Given the description of an element on the screen output the (x, y) to click on. 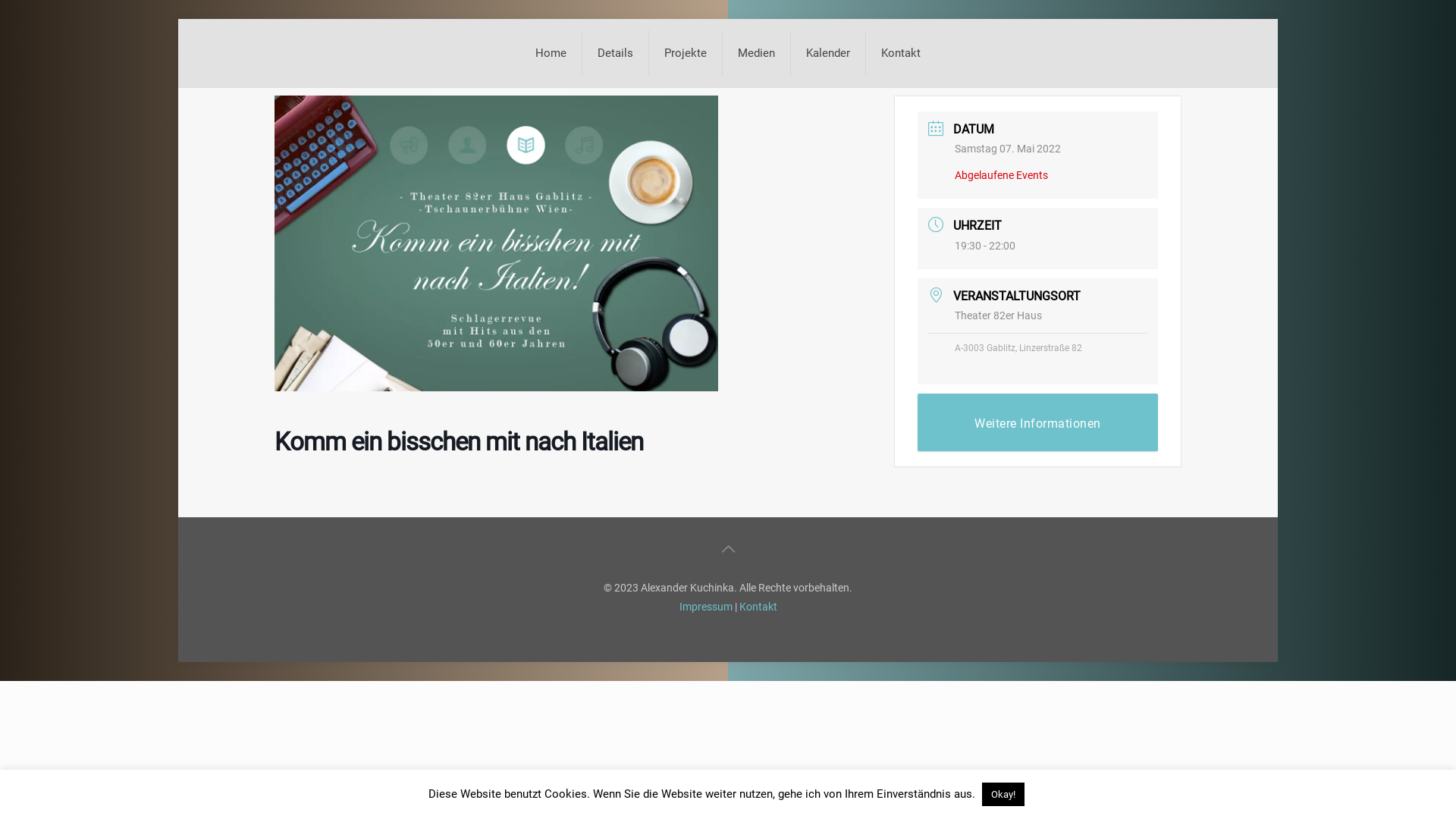
Medien Element type: text (756, 52)
Weitere Informationen Element type: text (1037, 422)
Okay! Element type: text (1002, 794)
Home Element type: text (551, 52)
Details Element type: text (615, 52)
Kalender Element type: text (828, 52)
Projekte Element type: text (685, 52)
Kontakt Element type: text (757, 606)
Impressum Element type: text (705, 606)
Kontakt Element type: text (900, 52)
